Given the description of an element on the screen output the (x, y) to click on. 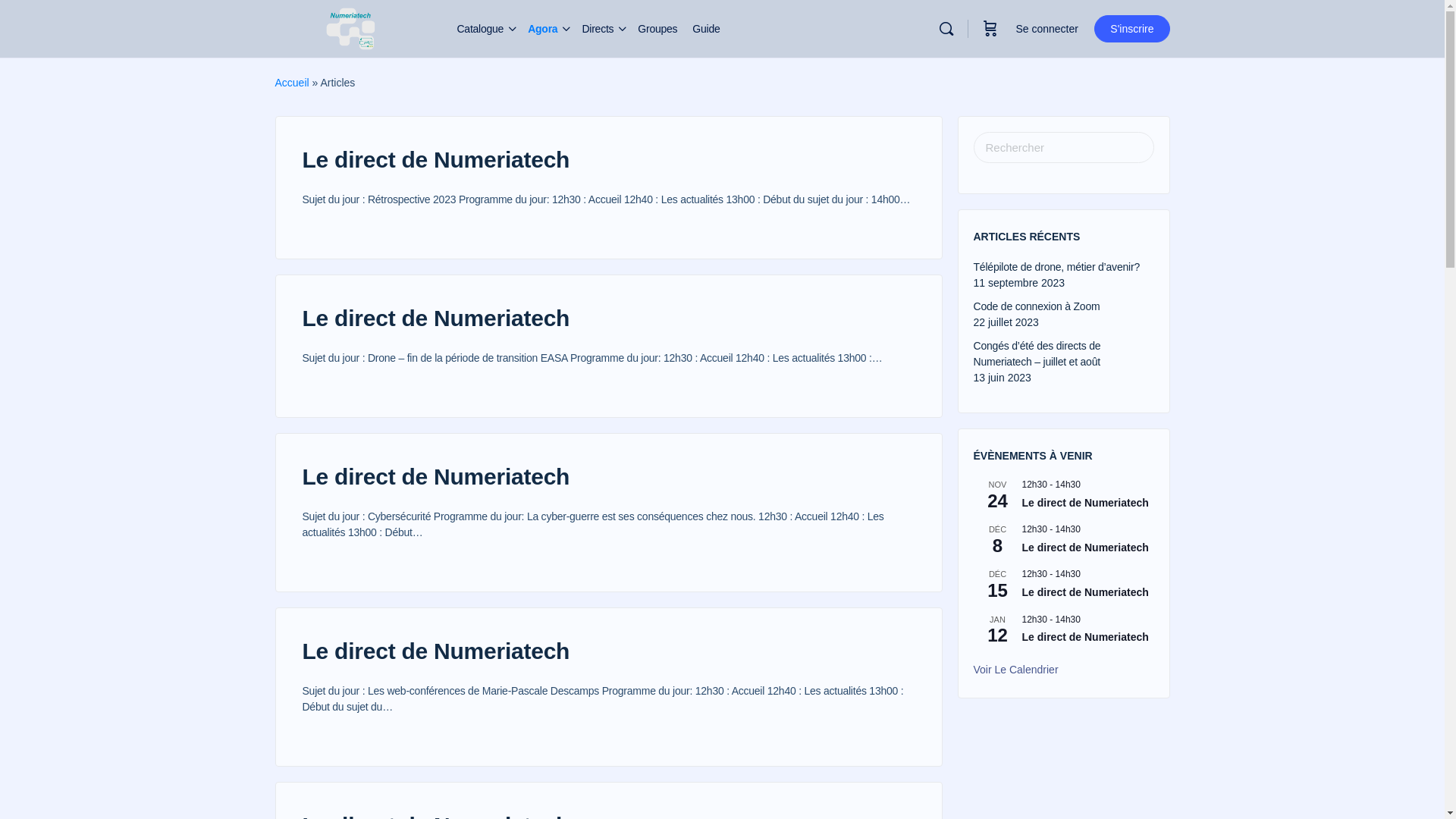
Agora Element type: text (542, 28)
Directs Element type: text (597, 28)
Groupes Element type: text (657, 28)
Le direct de Numeriatech Element type: text (435, 317)
Le direct de Numeriatech Element type: text (1085, 547)
Le direct de Numeriatech Element type: text (435, 650)
S'inscrire Element type: text (1131, 28)
Le direct de Numeriatech Element type: text (435, 476)
Le direct de Numeriatech Element type: text (1085, 502)
Guide Element type: text (705, 28)
Le direct de Numeriatech Element type: text (1085, 636)
Se connecter Element type: text (1046, 28)
Le direct de Numeriatech Element type: text (435, 159)
Voir Le Calendrier Element type: text (1015, 669)
Accueil Element type: text (291, 82)
Catalogue Element type: text (479, 28)
Le direct de Numeriatech Element type: text (1085, 592)
